Given the description of an element on the screen output the (x, y) to click on. 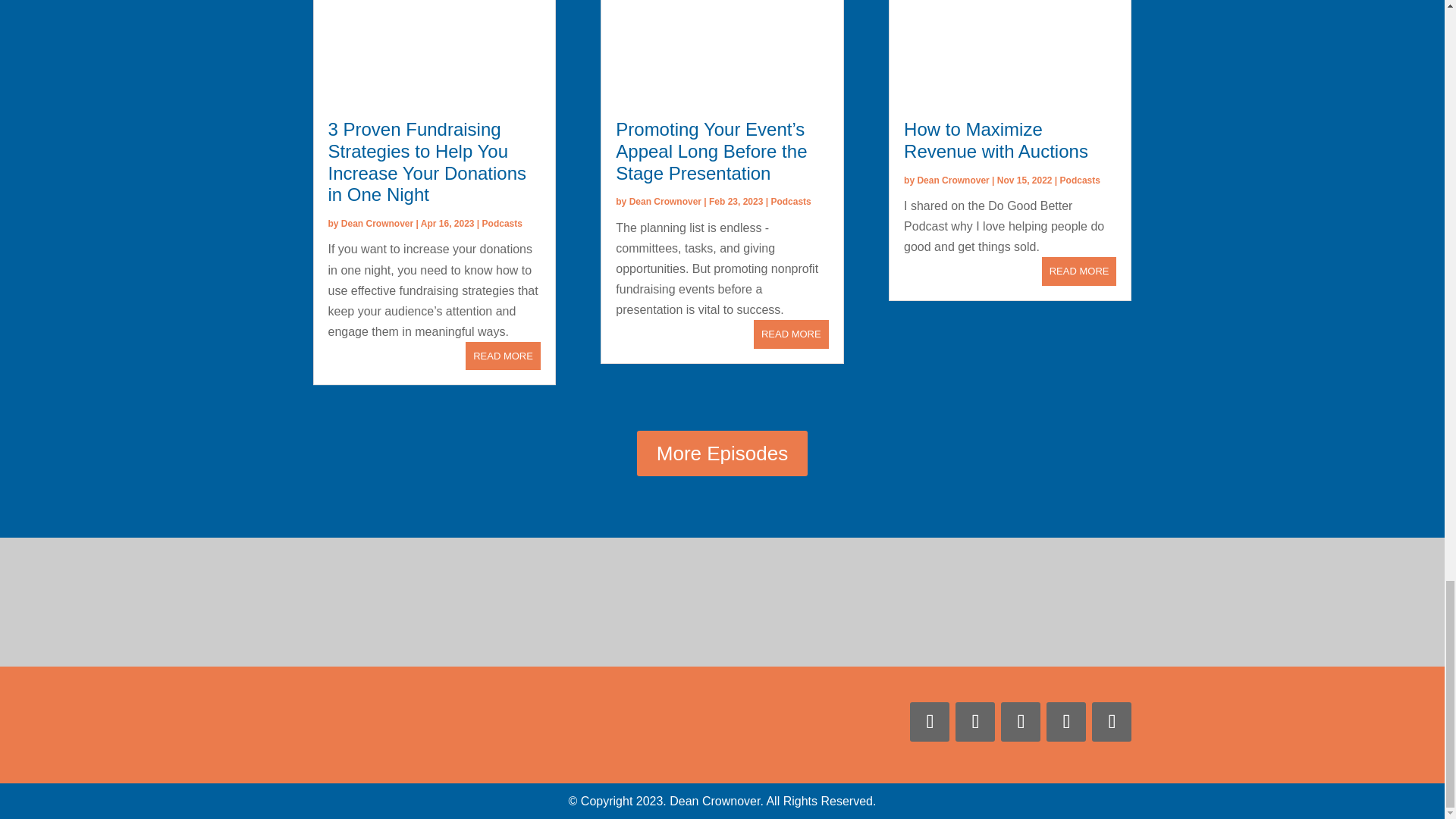
Follow on Instagram (1066, 721)
Follow on Youtube (929, 721)
Posts by Dean Crownover (952, 180)
Follow on X (1021, 721)
BAS-logo (752, 596)
Posts by Dean Crownover (376, 223)
Follow on LinkedIn (1111, 721)
Follow on Facebook (974, 721)
Posts by Dean Crownover (664, 201)
Dean Crownover - My Benefit Auctioneer (433, 724)
